Given the description of an element on the screen output the (x, y) to click on. 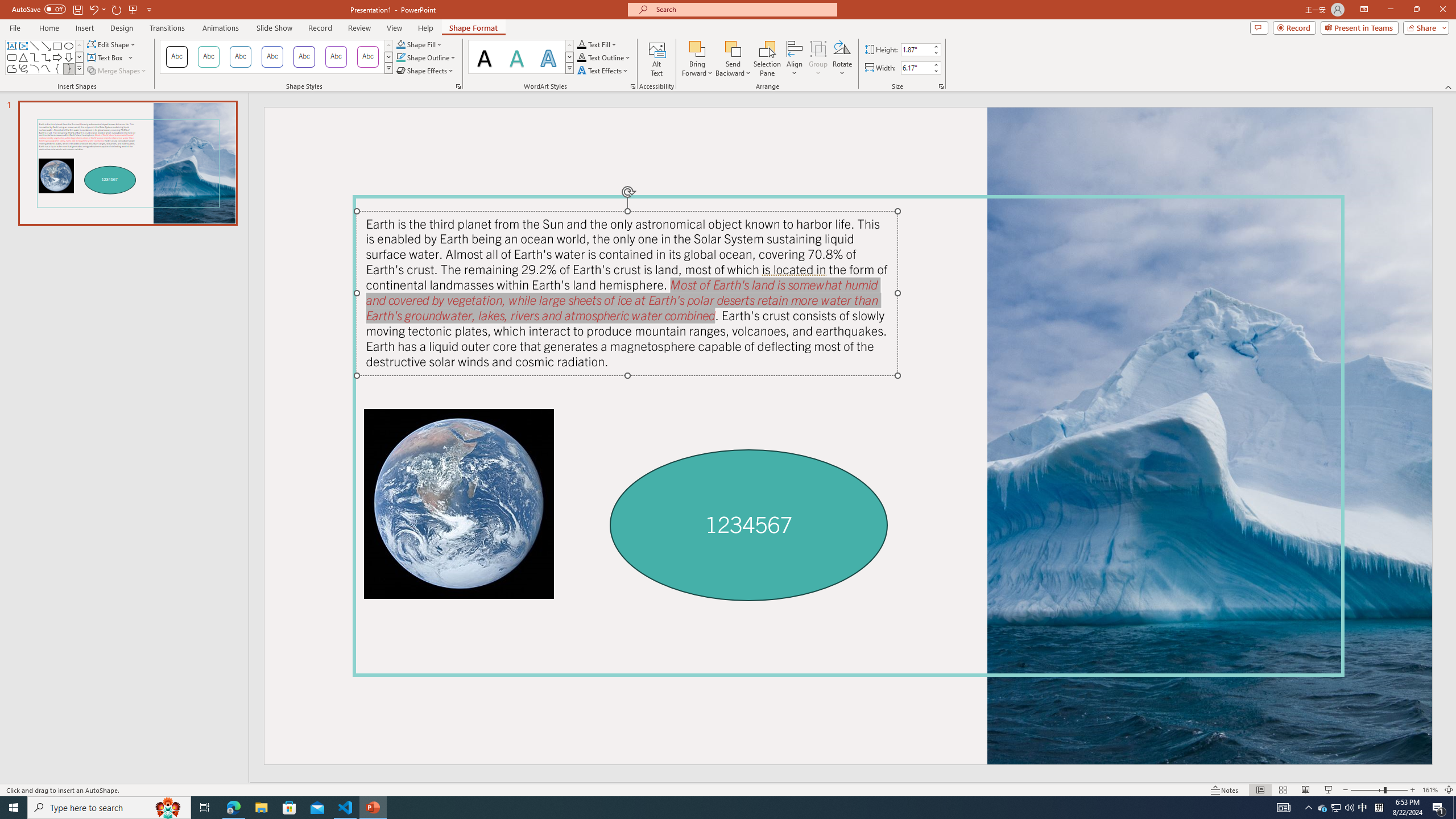
Comments (1259, 27)
Text Fill (596, 44)
View (395, 28)
Text Fill RGB(0, 0, 0) (581, 44)
Shape Width (915, 67)
Class: NetUIImage (569, 68)
Arrow: Down (68, 57)
Zoom Out (1367, 790)
Colored Outline - Aqua, Accent 2 (240, 56)
Fill: Teal, Accent color 1; Shadow (516, 56)
Connector: Elbow Arrow (46, 57)
Send Backward (733, 58)
Row Down (568, 56)
Freeform: Scribble (23, 68)
